Given the description of an element on the screen output the (x, y) to click on. 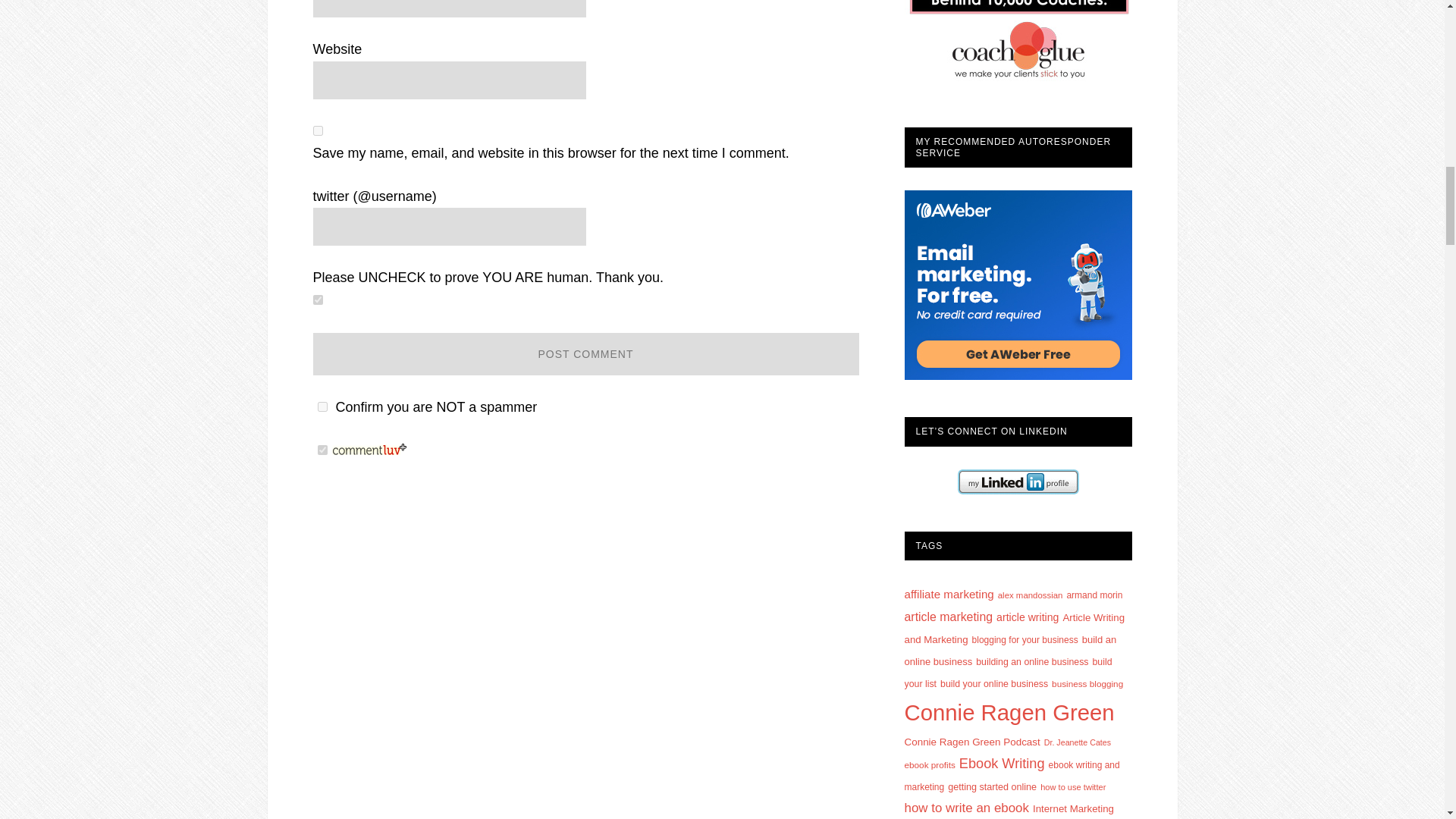
affiliate marketing (948, 594)
armand morin (1093, 594)
Post Comment (586, 353)
Post Comment (586, 353)
on (322, 406)
on (317, 299)
alex mandossian (1029, 594)
CommentLuv is enabled (369, 450)
yes (317, 130)
on (322, 450)
